Given the description of an element on the screen output the (x, y) to click on. 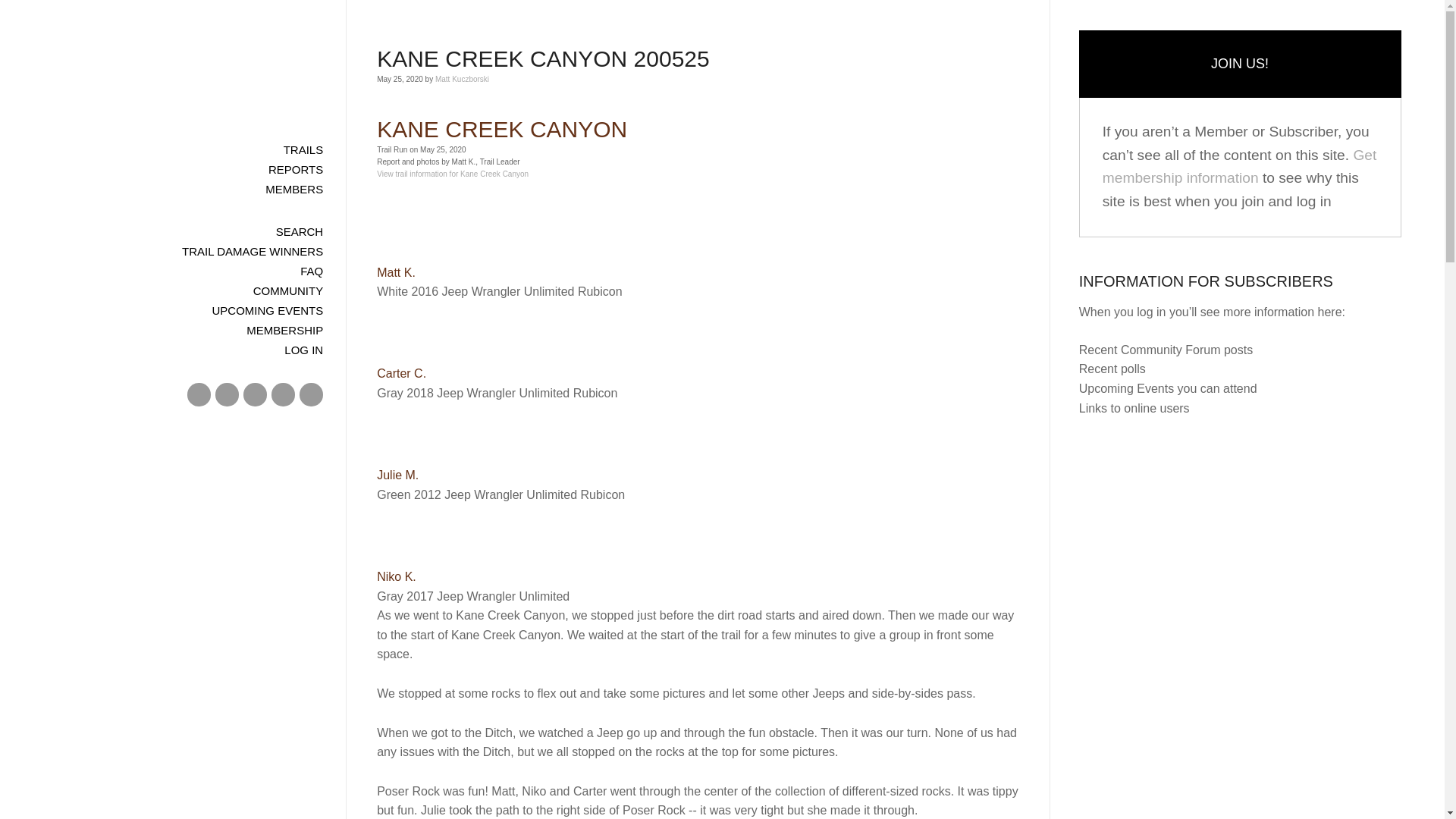
UPCOMING EVENTS (173, 311)
Niko K. (396, 576)
SEARCH (173, 231)
TRAILS (173, 149)
Julie M. (398, 474)
REPORTS (173, 169)
Matt K. (395, 272)
COMMUNITY (173, 291)
LOG IN (173, 350)
FAQ (173, 271)
